Given the description of an element on the screen output the (x, y) to click on. 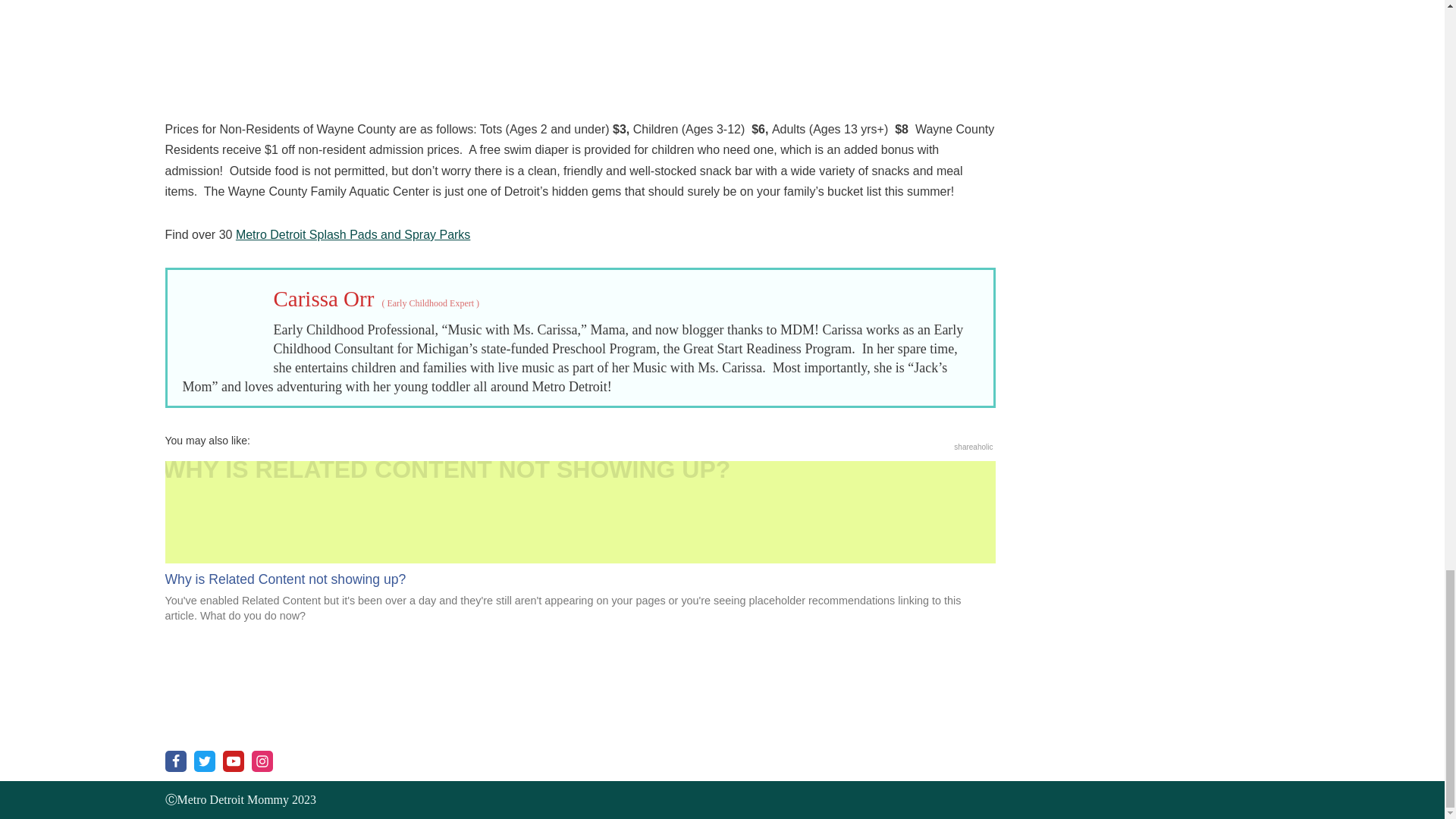
Twitter (204, 761)
Facebook (175, 761)
Website Tools by Shareaholic (972, 447)
